Given the description of an element on the screen output the (x, y) to click on. 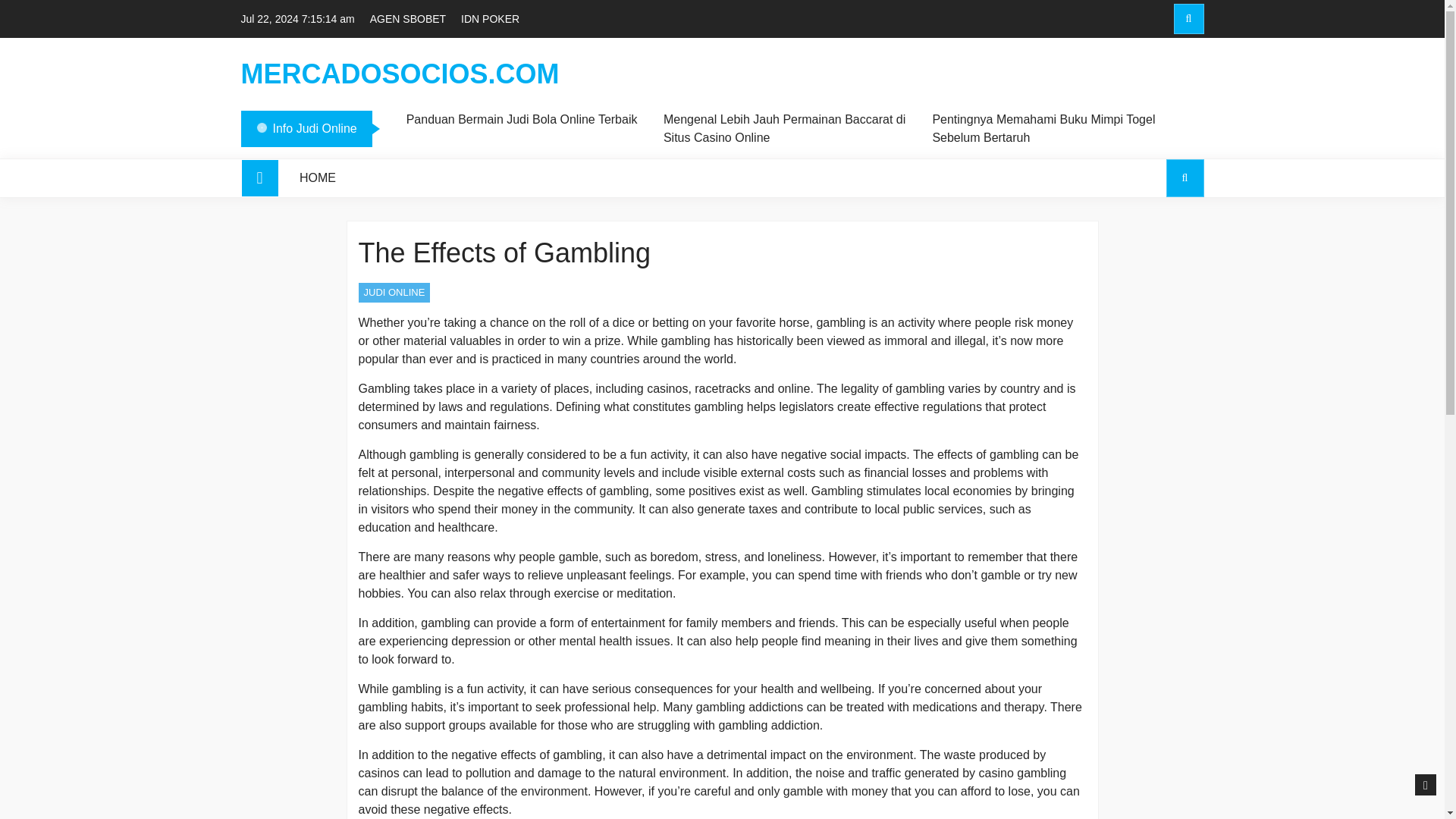
Search (1156, 243)
MERCADOSOCIOS.COM (400, 73)
HOME (317, 177)
Search (1185, 177)
Panduan Bermain Judi Bola Online Terbaik (521, 119)
Go to Top (1425, 784)
IDN POKER (490, 18)
AGEN SBOBET (407, 18)
Pentingnya Memahami Buku Mimpi Togel Sebelum Bertaruh (1052, 128)
JUDI ONLINE (393, 292)
Search (1156, 83)
Search (1188, 19)
